Given the description of an element on the screen output the (x, y) to click on. 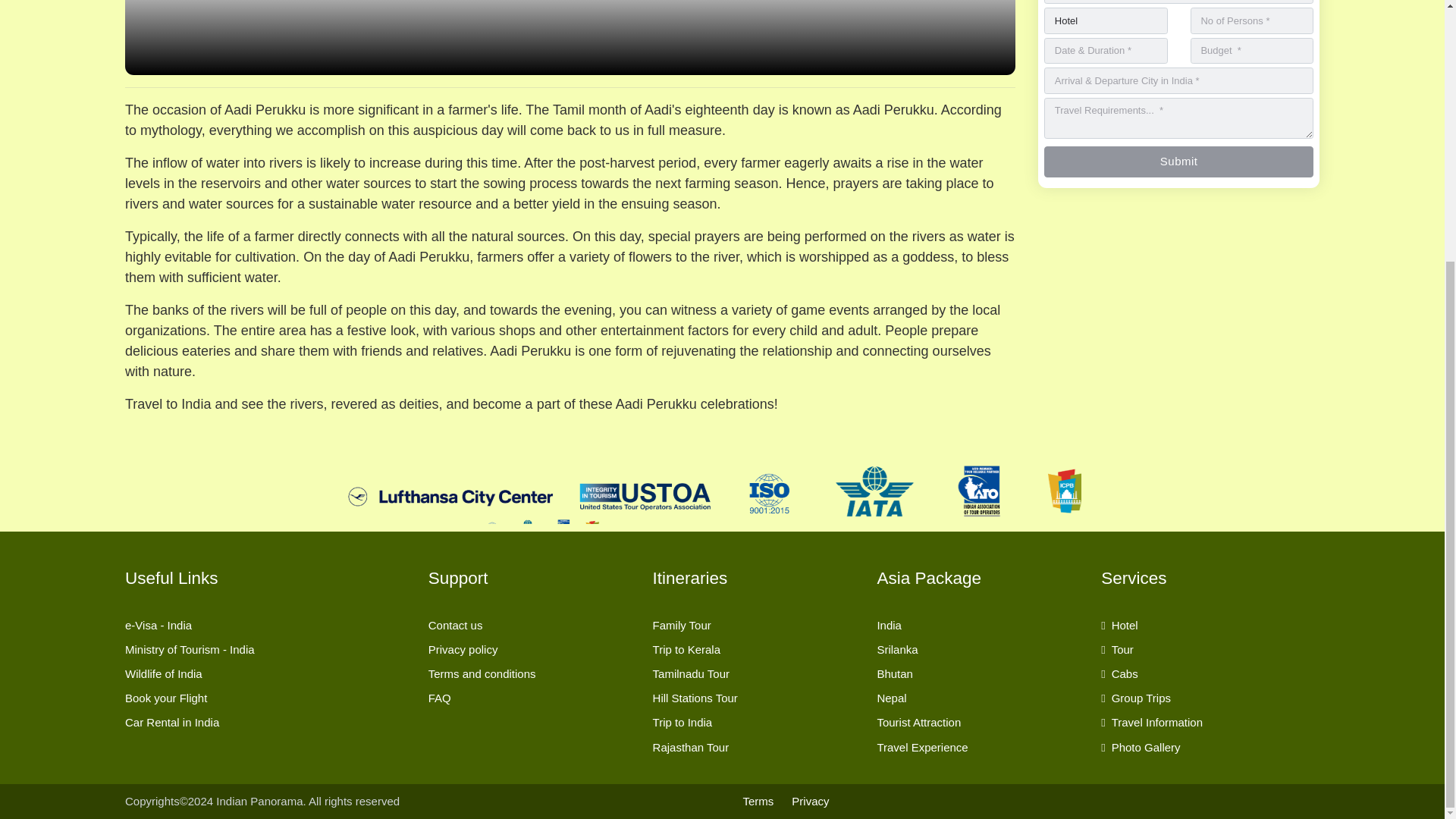
Submit (1178, 161)
e-Visa - India (267, 625)
